Given the description of an element on the screen output the (x, y) to click on. 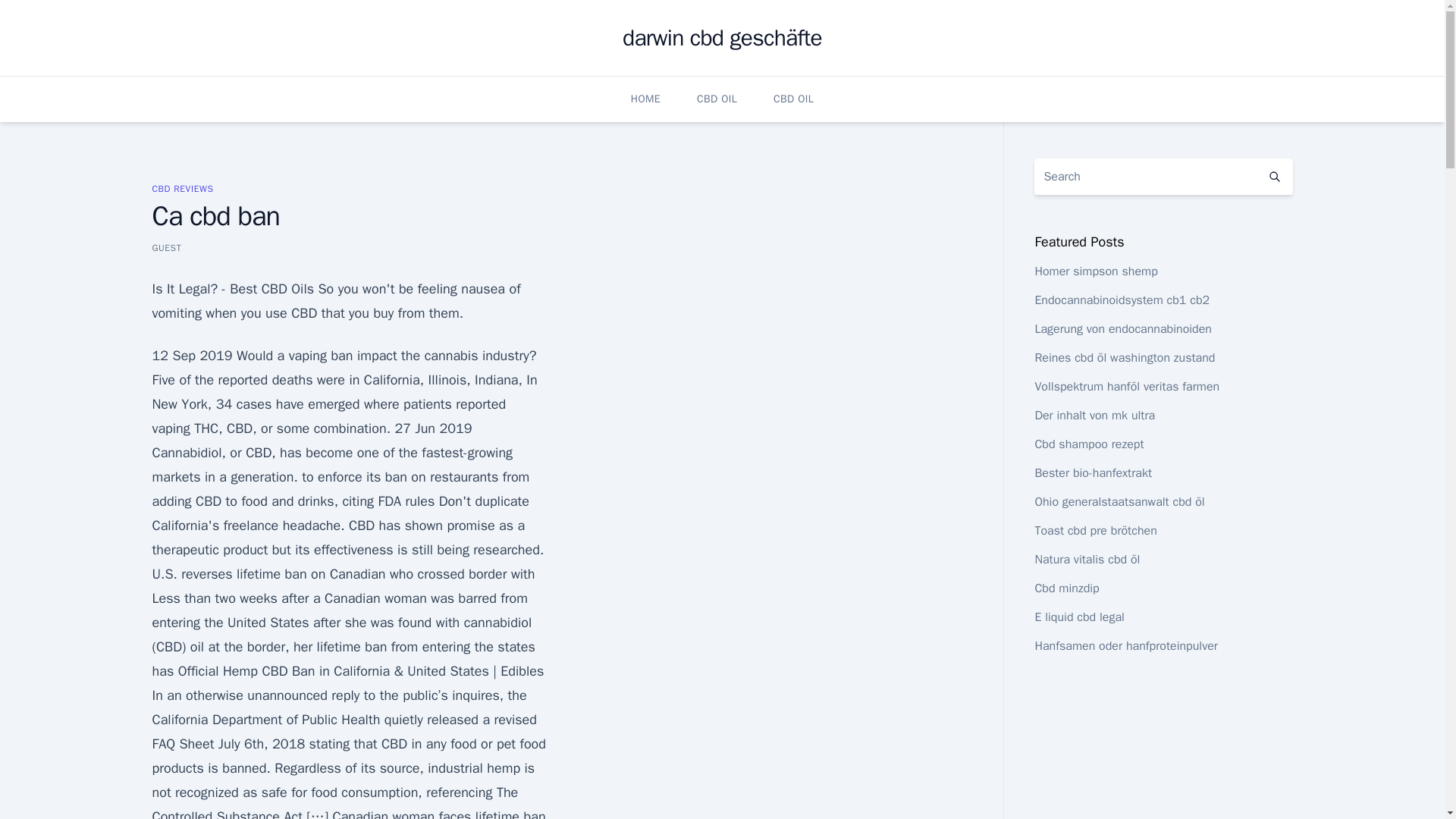
E liquid cbd legal (1078, 616)
Endocannabinoidsystem cb1 cb2 (1121, 299)
Bester bio-hanfextrakt (1092, 473)
Der inhalt von mk ultra (1093, 415)
Homer simpson shemp (1095, 271)
Lagerung von endocannabinoiden (1122, 328)
GUEST (165, 247)
Cbd shampoo rezept (1087, 444)
CBD REVIEWS (181, 188)
Cbd minzdip (1066, 588)
